Given the description of an element on the screen output the (x, y) to click on. 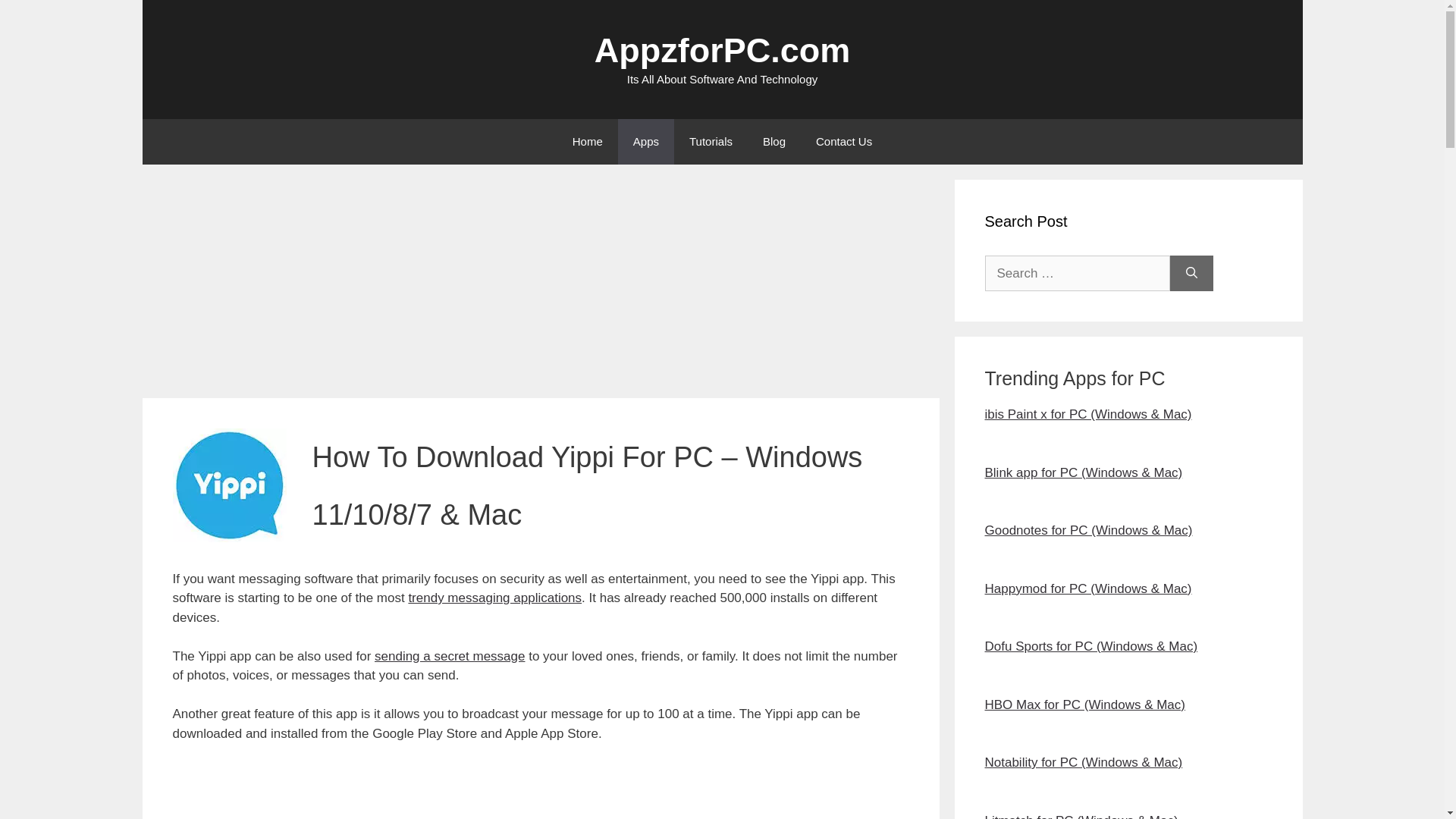
Contact Us (843, 140)
Apps (645, 140)
Tutorials (711, 140)
Search for: (1076, 272)
AppzforPC.com (722, 50)
Home (587, 140)
sending a secret message (449, 656)
Blog (774, 140)
trendy messaging applications (493, 597)
